Given the description of an element on the screen output the (x, y) to click on. 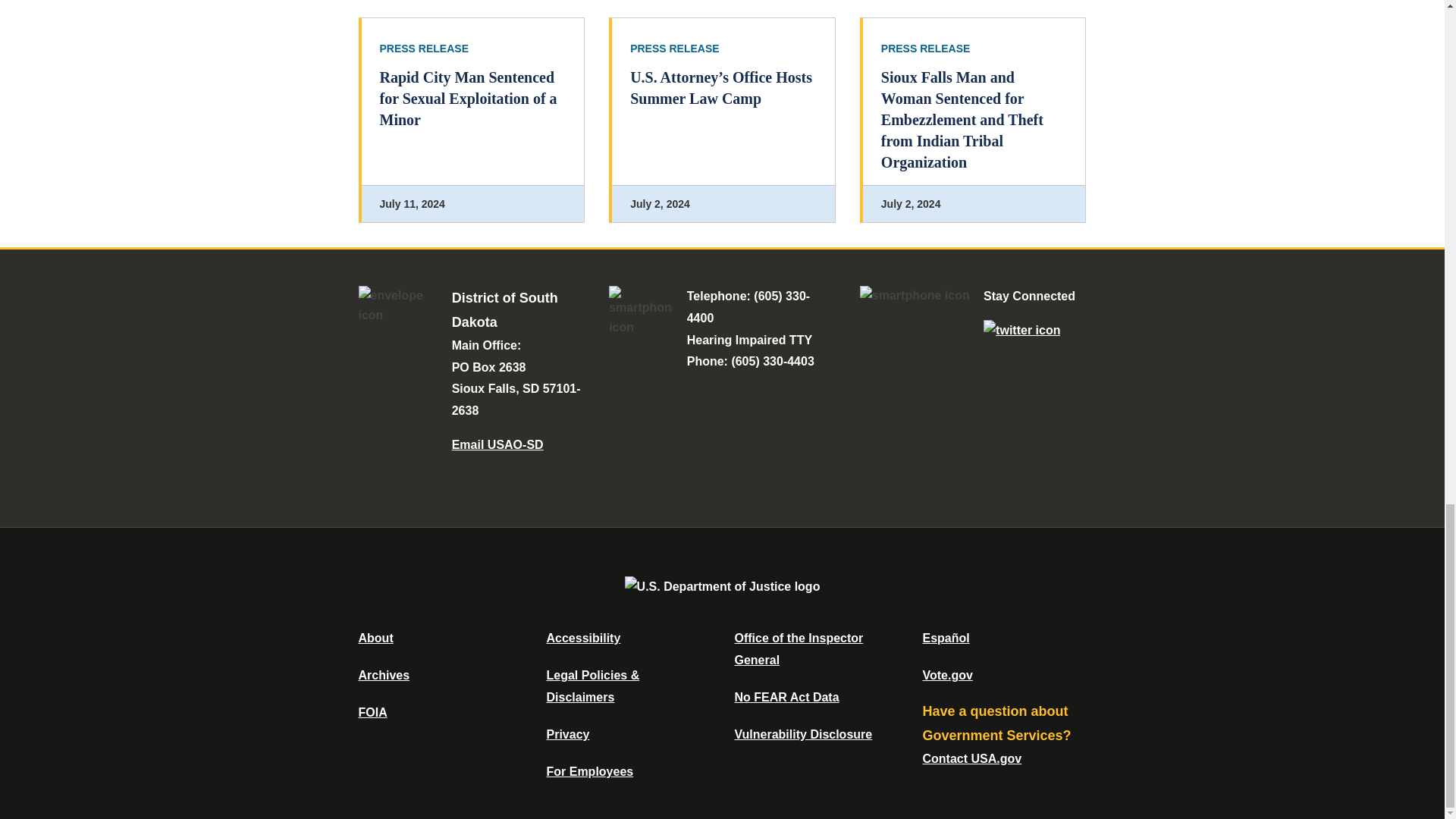
Accessibility Statement (583, 637)
Legal Policies and Disclaimers (592, 686)
Data Posted Pursuant To The No Fear Act (785, 697)
Office of Information Policy (372, 712)
Department of Justice Archive (383, 675)
For Employees (589, 771)
About DOJ (375, 637)
